Given the description of an element on the screen output the (x, y) to click on. 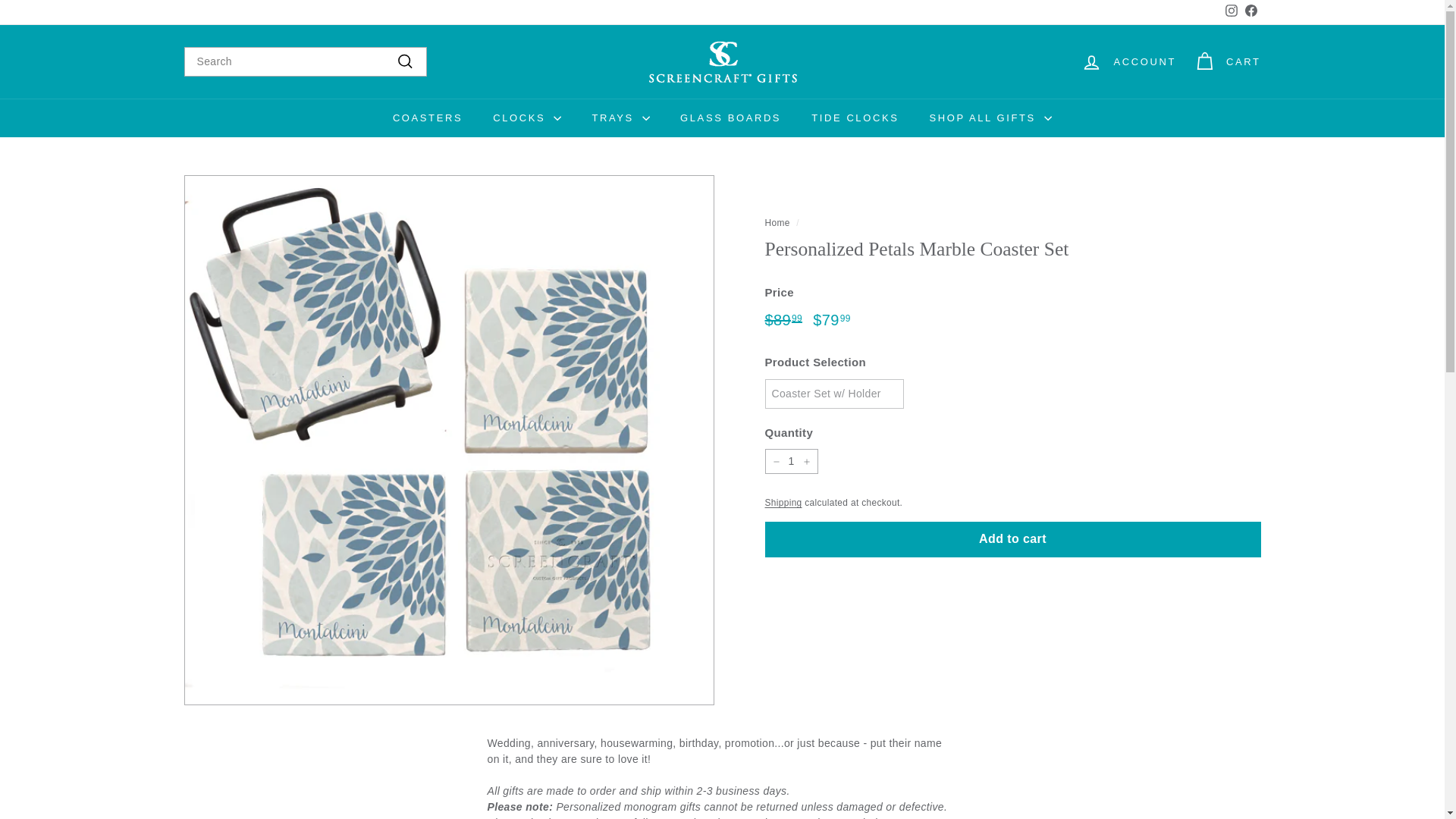
ScreenCraftGifts on Instagram (1230, 12)
1 (1230, 12)
instagram (790, 461)
TIDE CLOCKS (1231, 10)
Facebook (855, 118)
Back to the frontpage (1250, 12)
COASTERS (776, 222)
ACCOUNT (427, 118)
GLASS BOARDS (1128, 61)
ScreenCraftGifts on Facebook (730, 118)
CART (1250, 12)
